Given the description of an element on the screen output the (x, y) to click on. 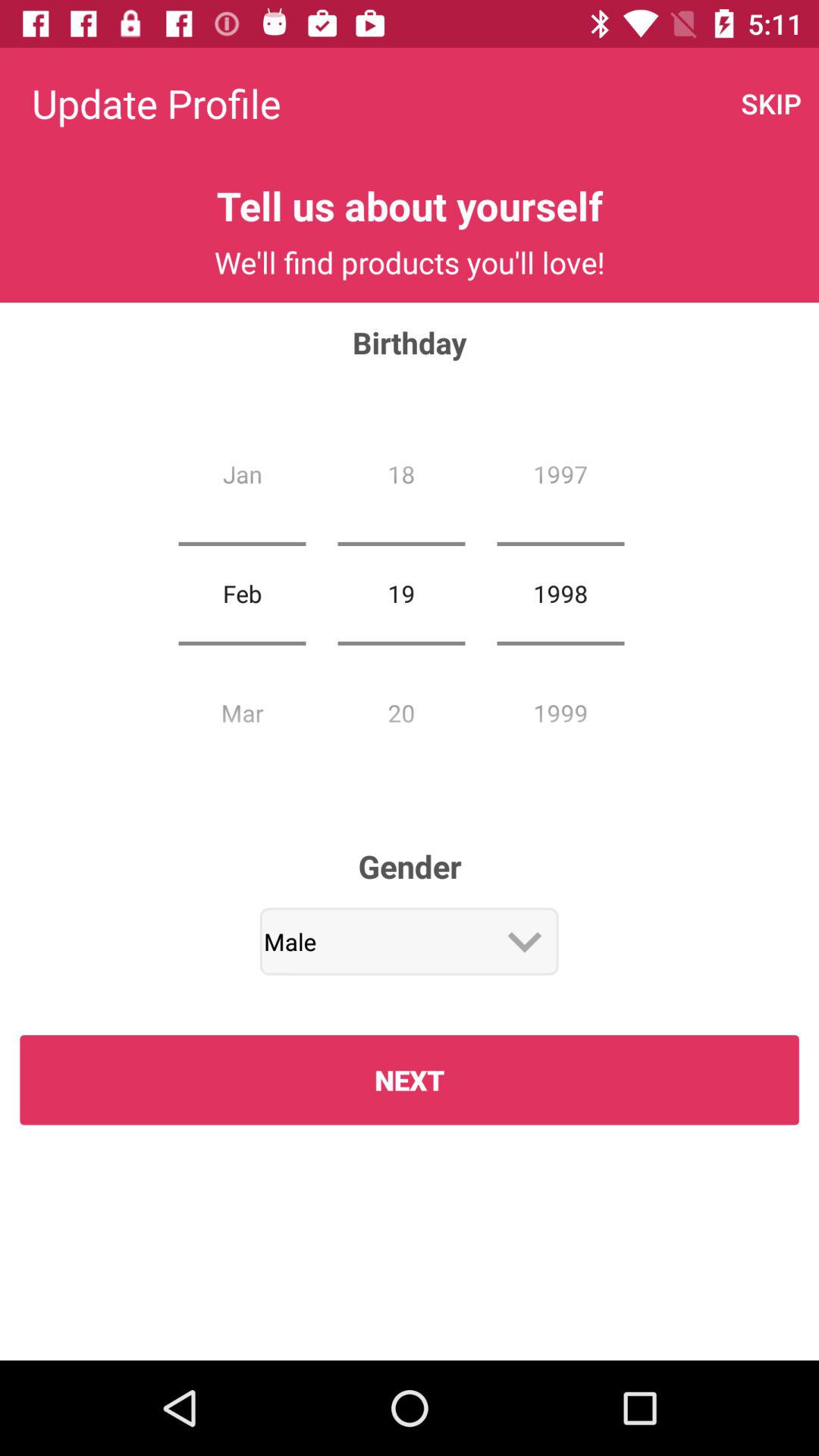
turn on item below the birthday (241, 593)
